Given the description of an element on the screen output the (x, y) to click on. 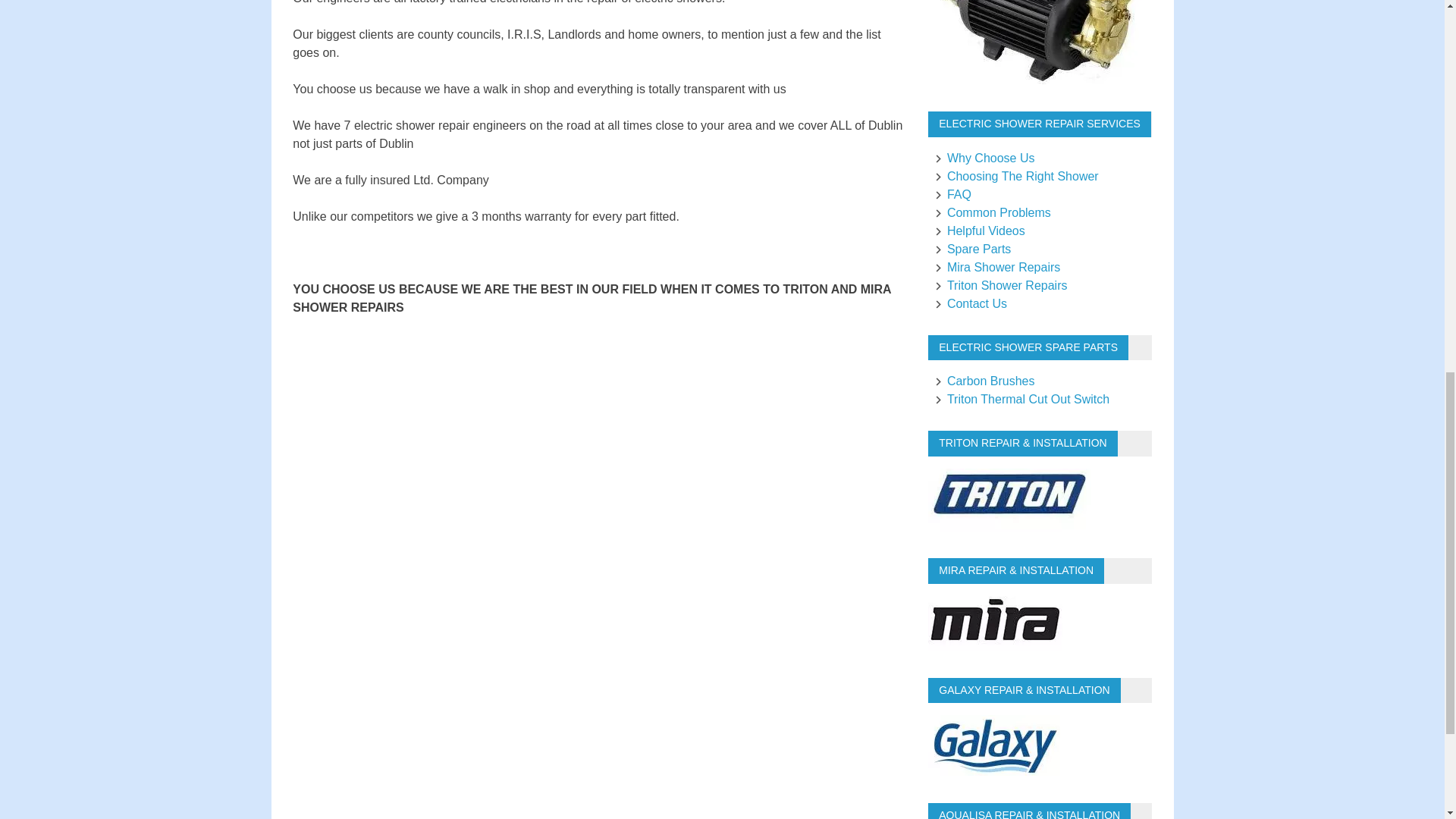
Triton Shower Repairs (999, 285)
Shower Pump Repair Servcies (1036, 79)
FAQ (951, 194)
Mira Shower Repairs (995, 267)
Choosing The Right Shower (1015, 175)
Common Problems (991, 212)
Why Choose Us (982, 157)
Helpful Videos (978, 230)
Triton Thermal Cut Out Switch (1020, 399)
Contact Us (969, 303)
Carbon Brushes (982, 380)
Spare Parts (970, 248)
